Given the description of an element on the screen output the (x, y) to click on. 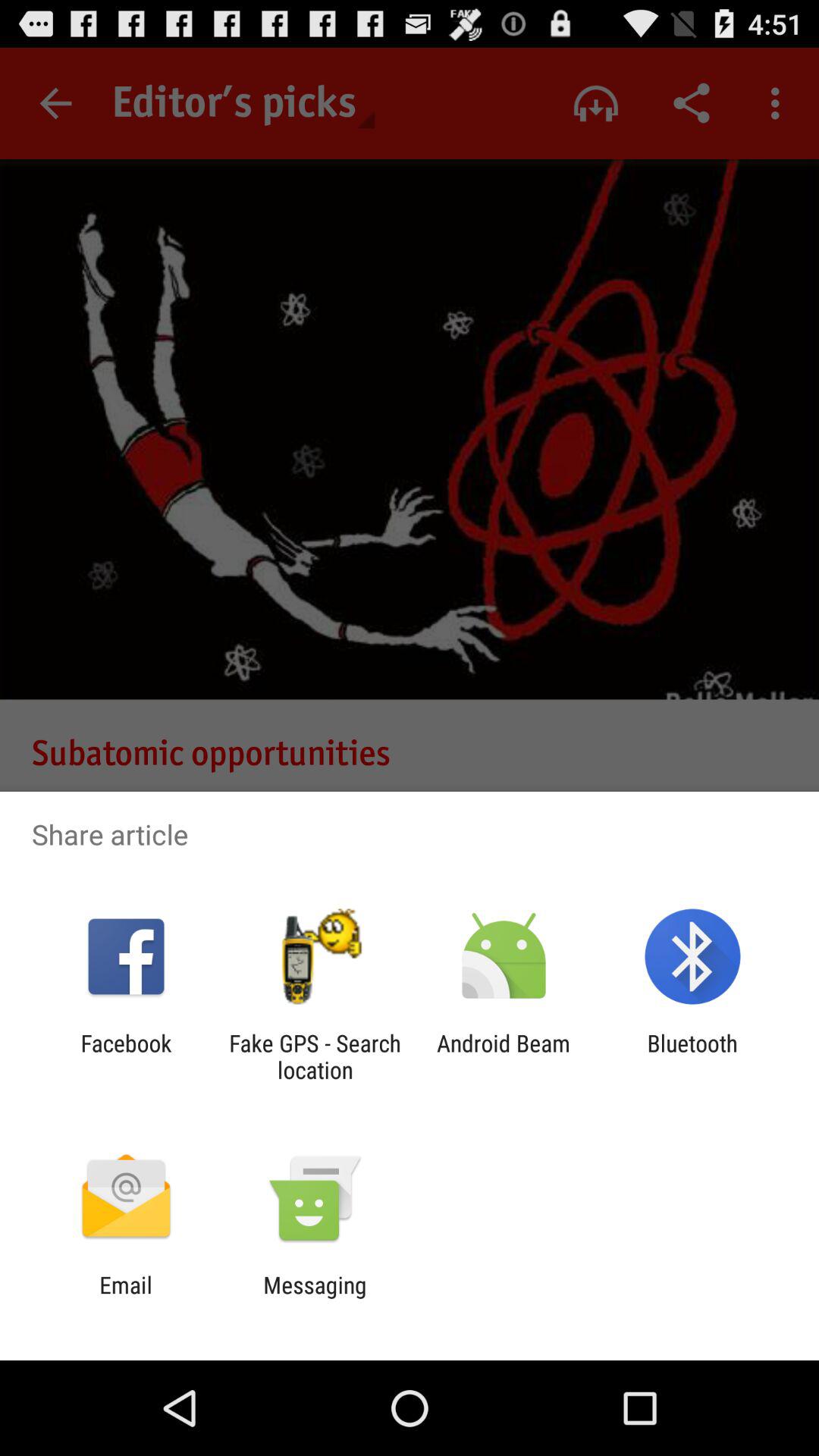
choose item next to the android beam item (692, 1056)
